Given the description of an element on the screen output the (x, y) to click on. 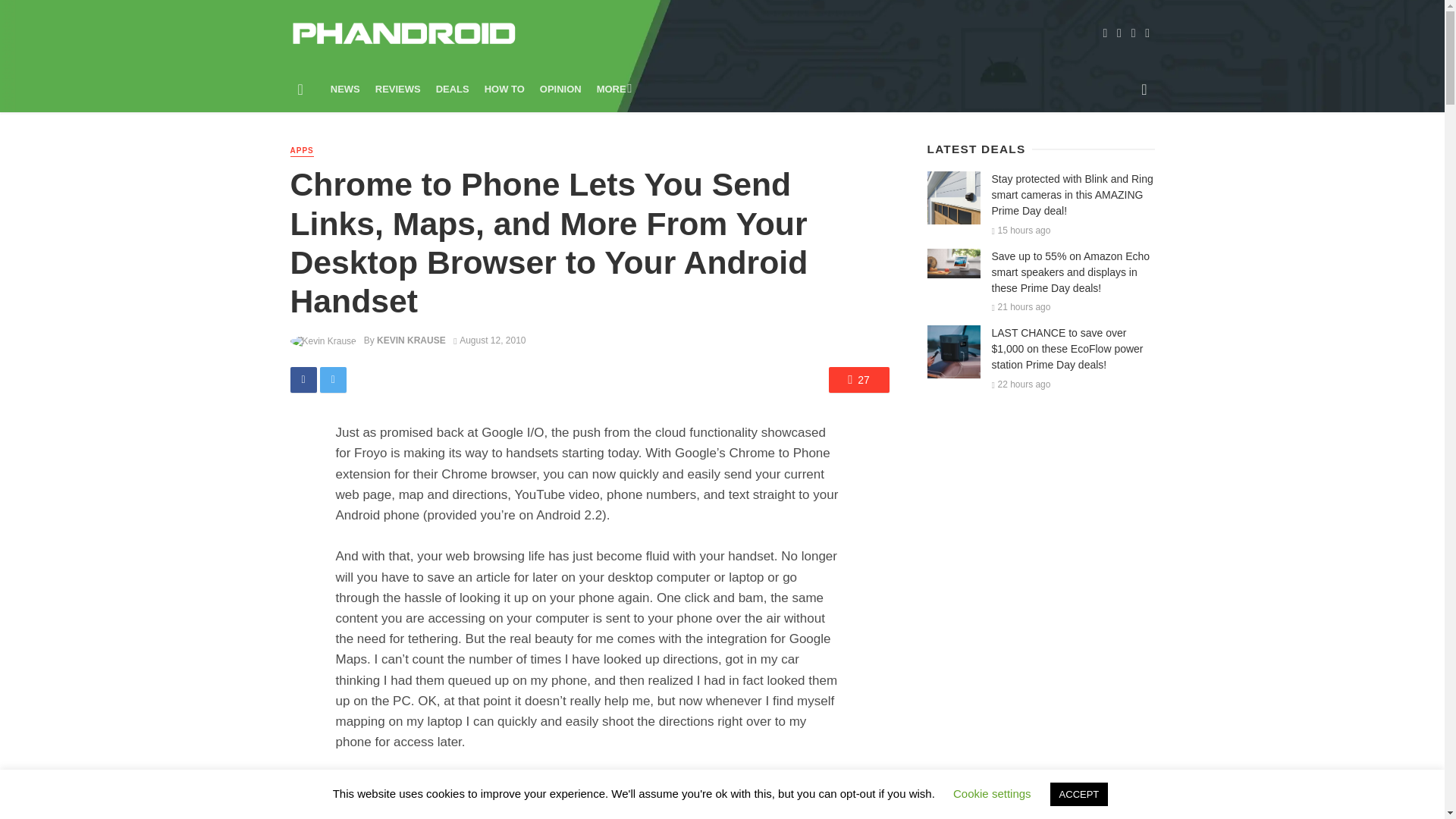
APPS (301, 151)
REVIEWS (398, 89)
OPINION (560, 89)
MORE (612, 89)
NEWS (345, 89)
KEVIN KRAUSE (411, 339)
Posts by Kevin Krause (411, 339)
27 (858, 379)
August 12, 2010 at 1:08 pm (488, 339)
HOW TO (504, 89)
DEALS (452, 89)
